Given the description of an element on the screen output the (x, y) to click on. 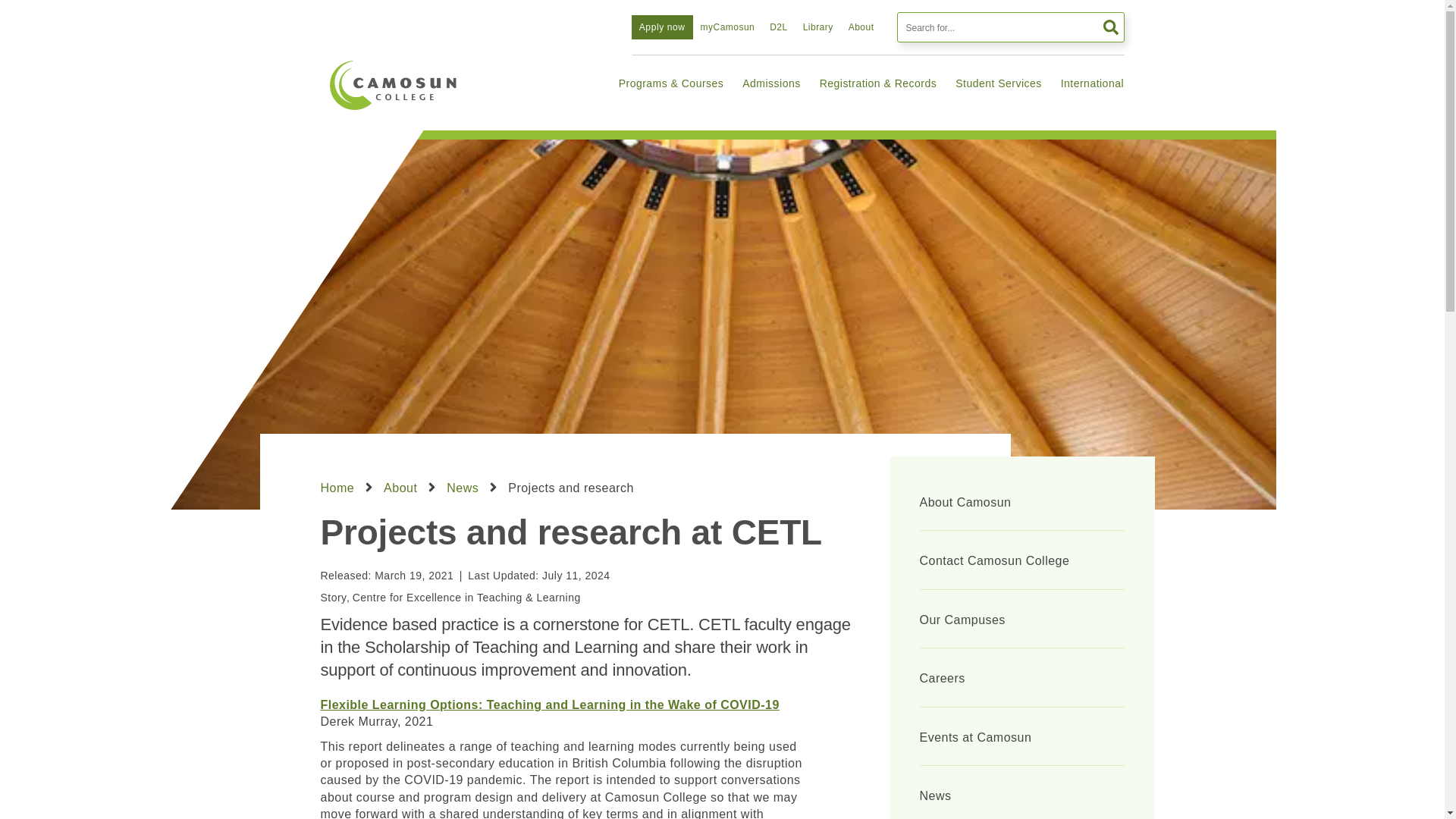
Search (1108, 27)
Library (817, 27)
Admissions (771, 82)
D2L (777, 27)
Apply now (662, 27)
myCamosun (727, 27)
Home (392, 84)
About (861, 27)
